Given the description of an element on the screen output the (x, y) to click on. 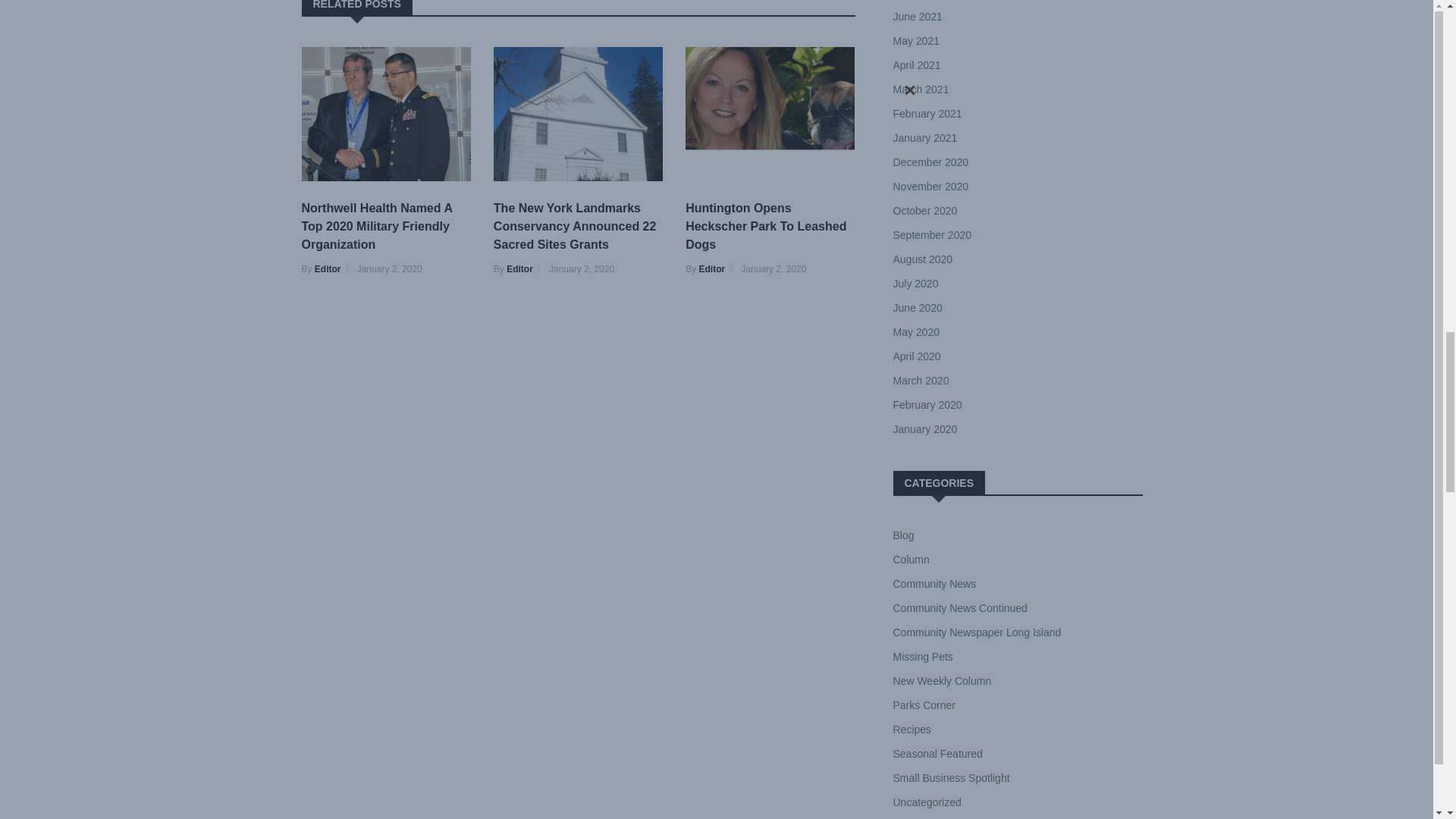
Posts by Editor (519, 268)
Posts by Editor (711, 268)
Posts by Editor (327, 268)
